Given the description of an element on the screen output the (x, y) to click on. 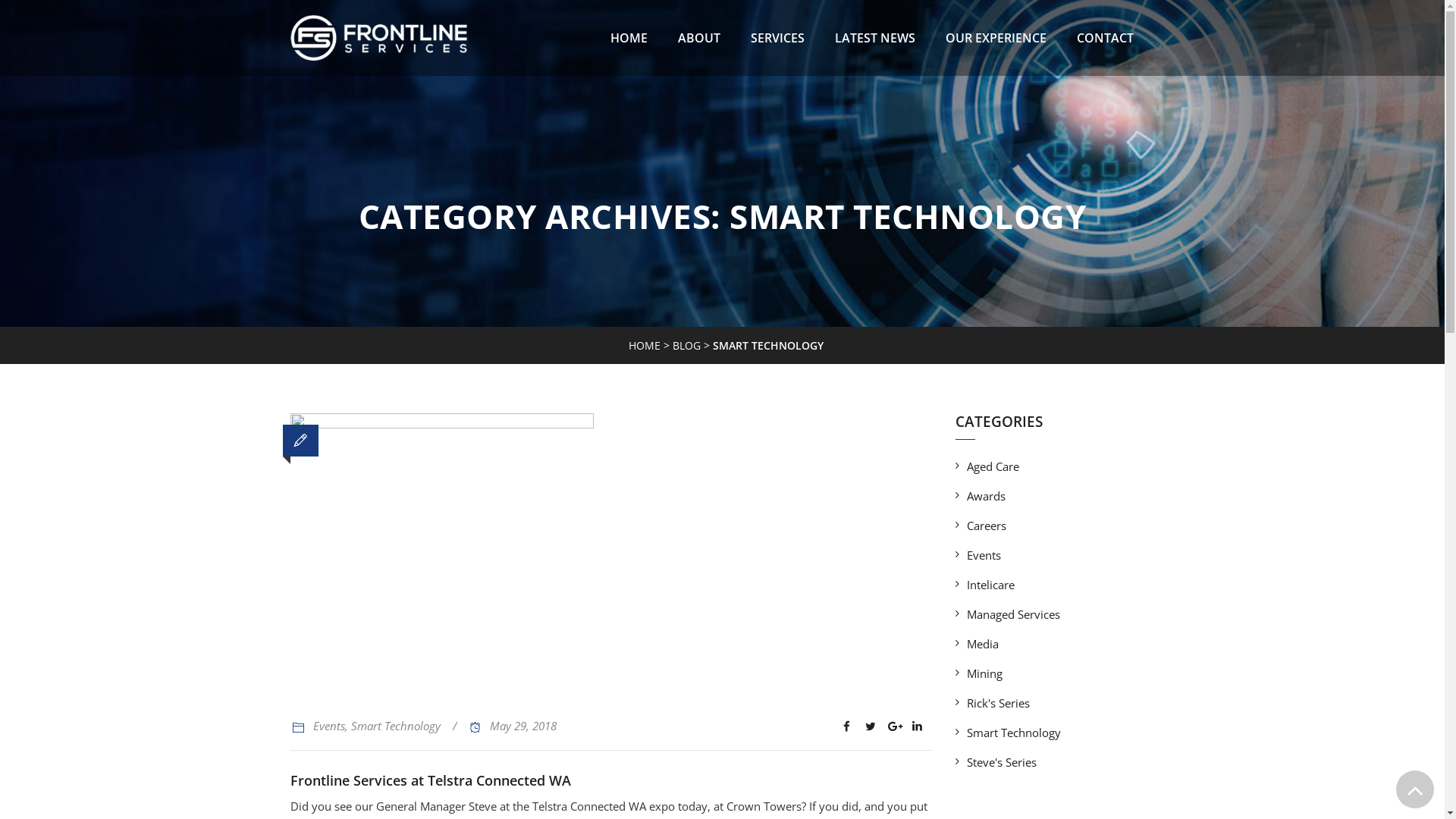
Intelicare Element type: text (984, 584)
HOME Element type: text (644, 345)
Frontline Services at Telstra Connected WA Element type: text (429, 780)
Smart Technology Element type: text (394, 725)
HOME Element type: text (627, 37)
LATEST NEWS Element type: text (874, 37)
Smart Technology Element type: text (1007, 732)
OUR EXPERIENCE Element type: text (994, 37)
Frontline Services Element type: hover (377, 37)
May 29, 2018 Element type: text (522, 725)
Managed Services Element type: text (1007, 614)
SERVICES Element type: text (777, 37)
Aged Care Element type: text (987, 466)
Media Element type: text (976, 643)
Events Element type: text (978, 555)
Mining Element type: text (978, 673)
ABOUT Element type: text (698, 37)
Rick's Series Element type: text (992, 702)
Steve's Series Element type: text (995, 762)
Awards Element type: text (980, 495)
BLOG Element type: text (686, 345)
Events Element type: text (328, 725)
CONTACT Element type: text (1104, 37)
Careers Element type: text (980, 525)
